Given the description of an element on the screen output the (x, y) to click on. 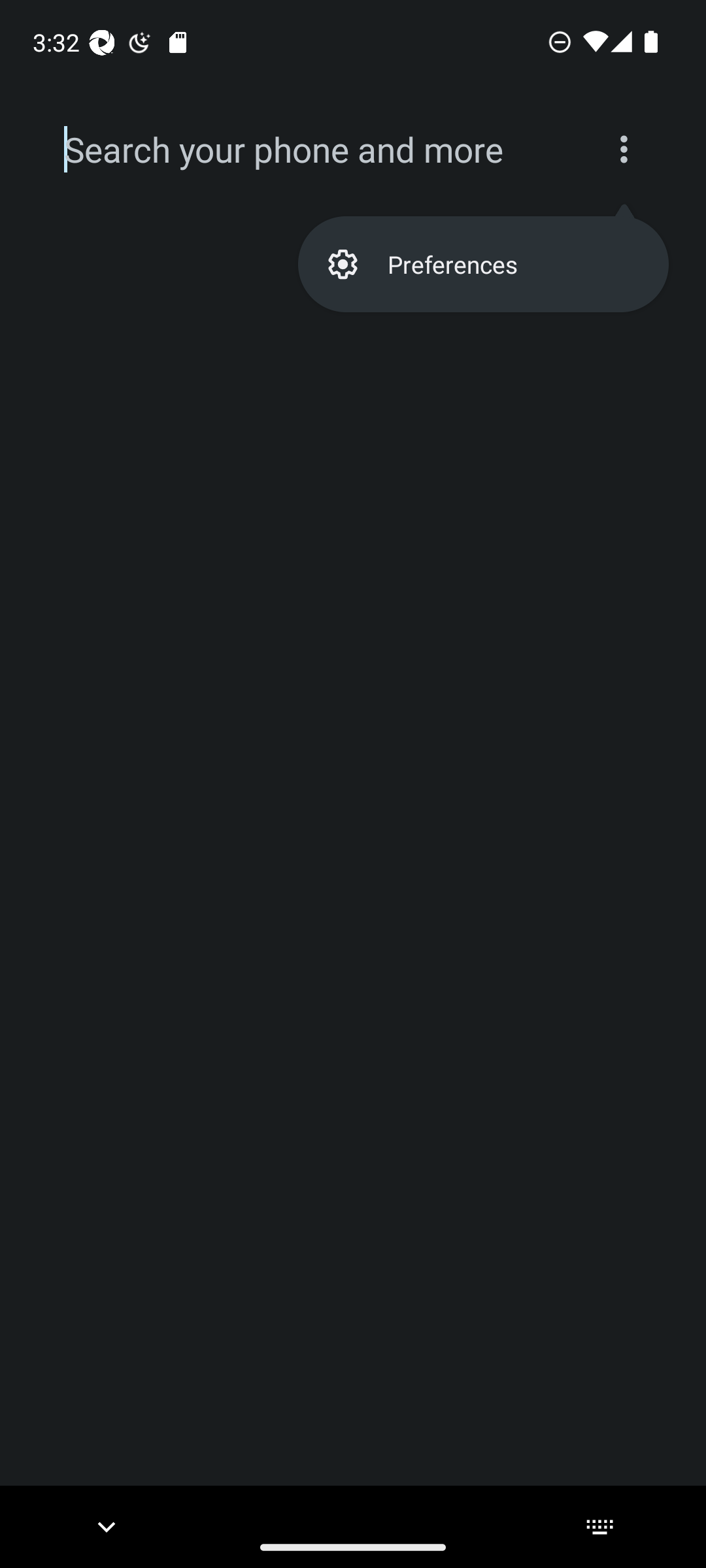
Preferences (482, 264)
